Given the description of an element on the screen output the (x, y) to click on. 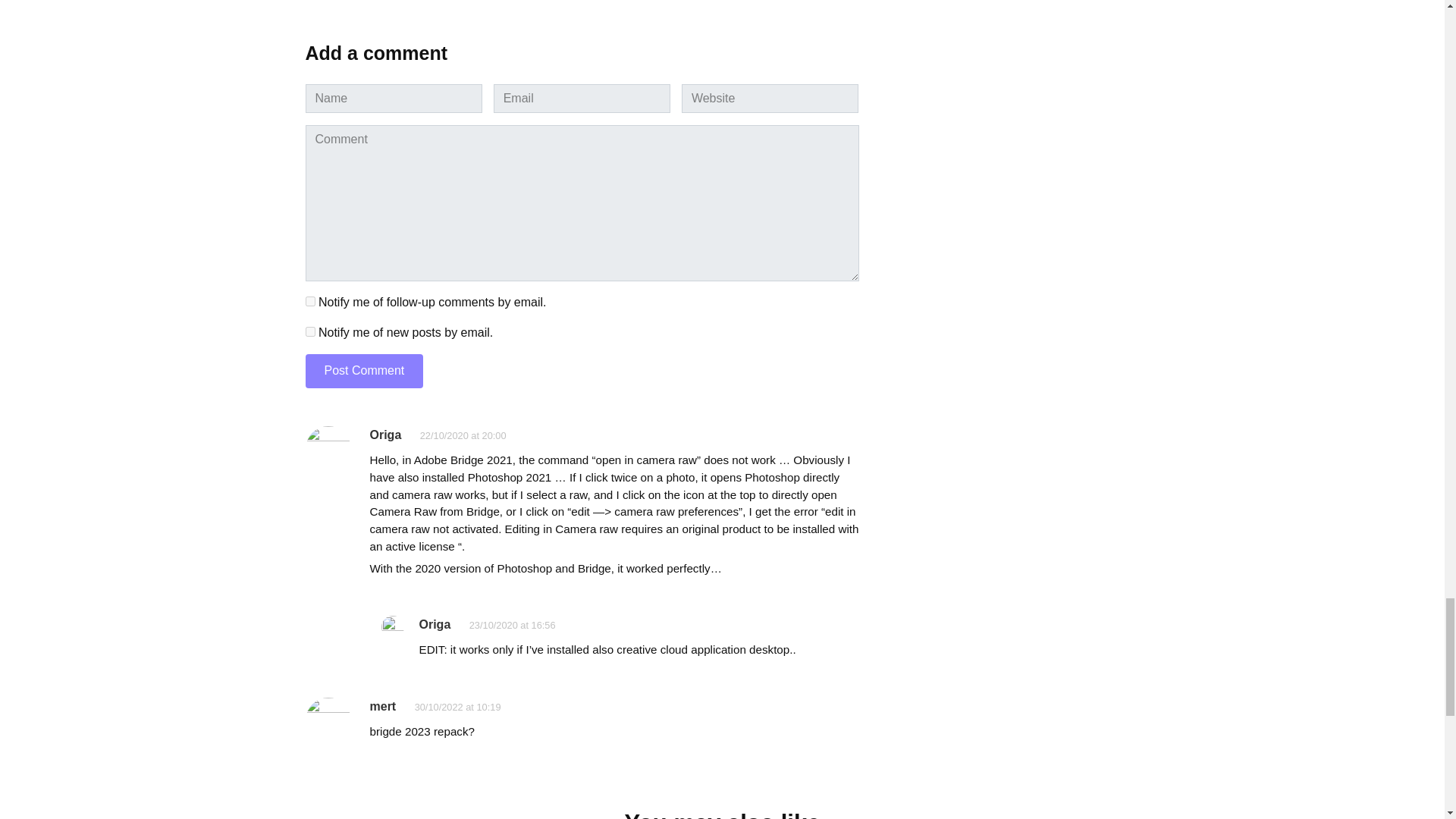
subscribe (309, 301)
subscribe (309, 331)
Post Comment (363, 370)
